Given the description of an element on the screen output the (x, y) to click on. 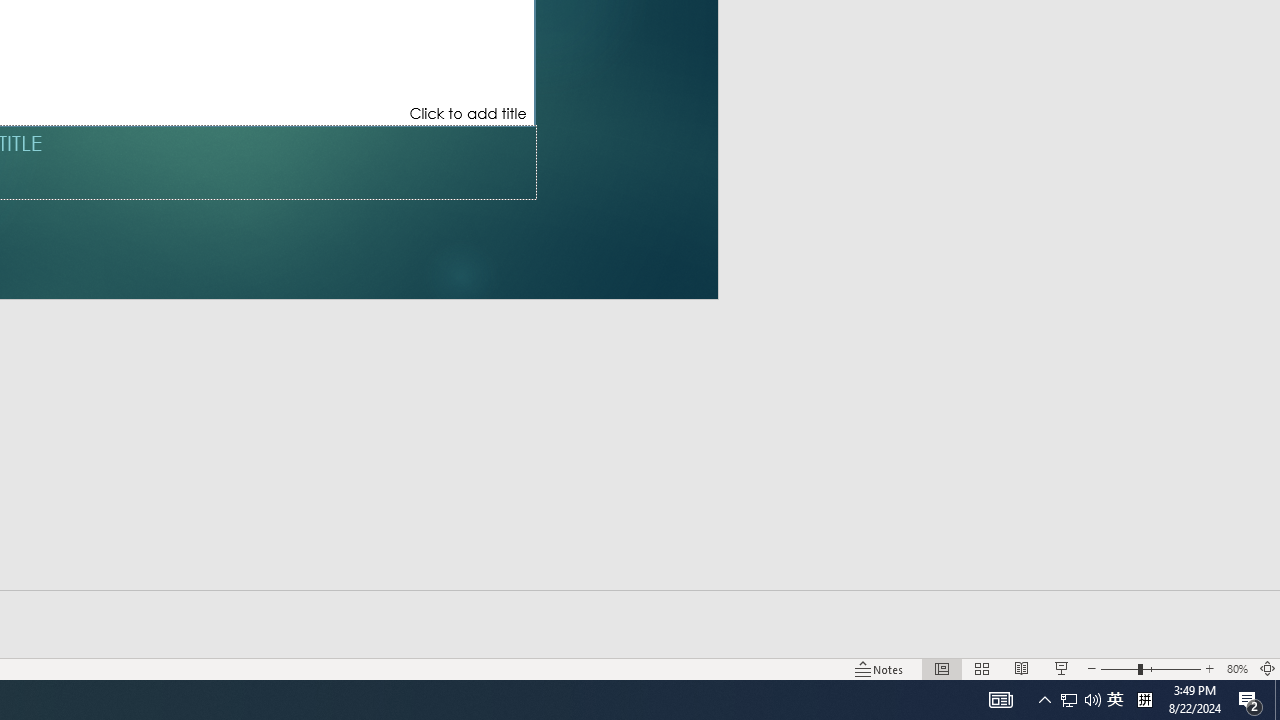
Zoom 80% (1236, 668)
